Given the description of an element on the screen output the (x, y) to click on. 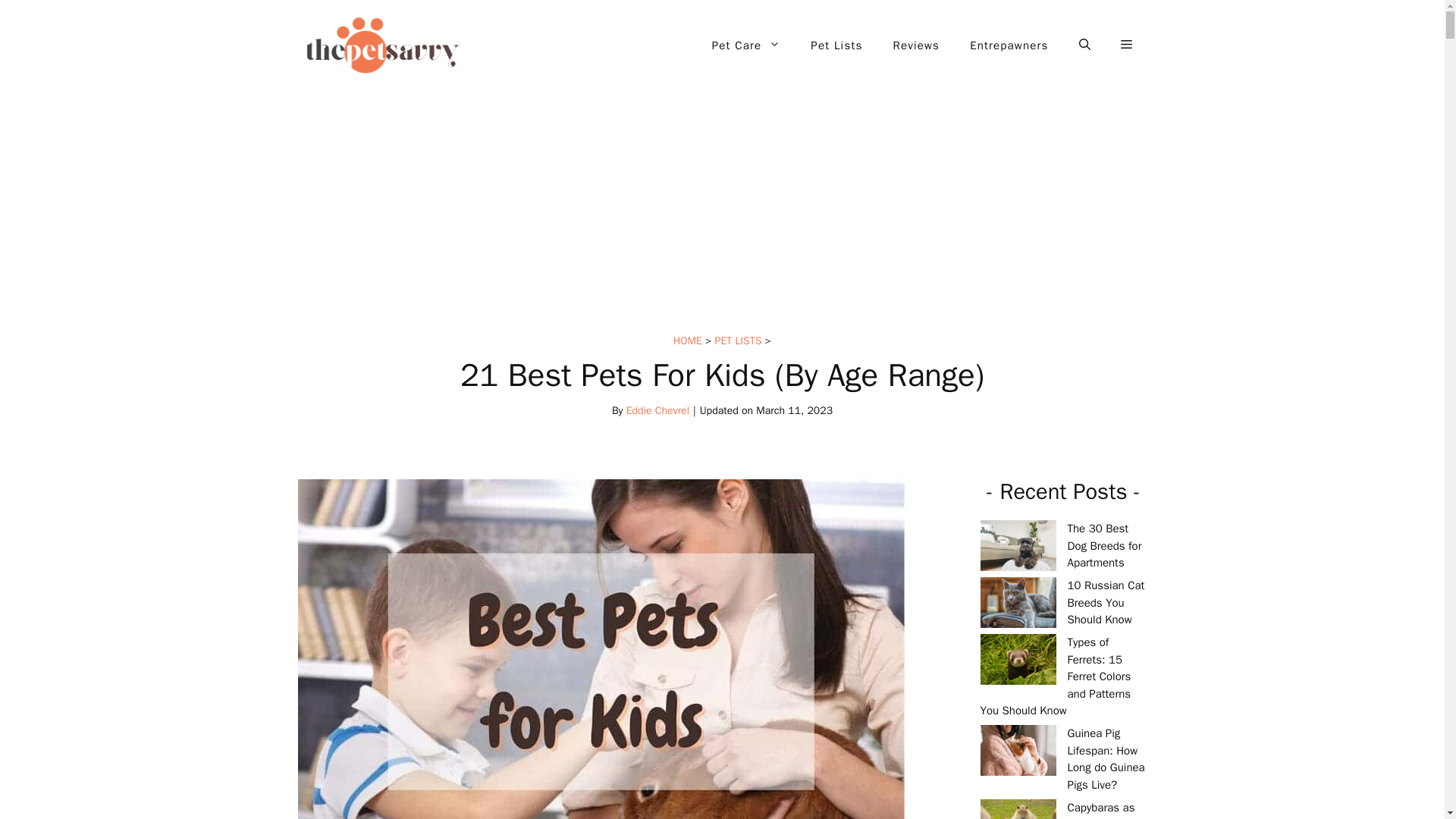
Pet Care (746, 44)
Entrepawners (1008, 44)
Reviews (916, 44)
Pet Lists (835, 44)
